Given the description of an element on the screen output the (x, y) to click on. 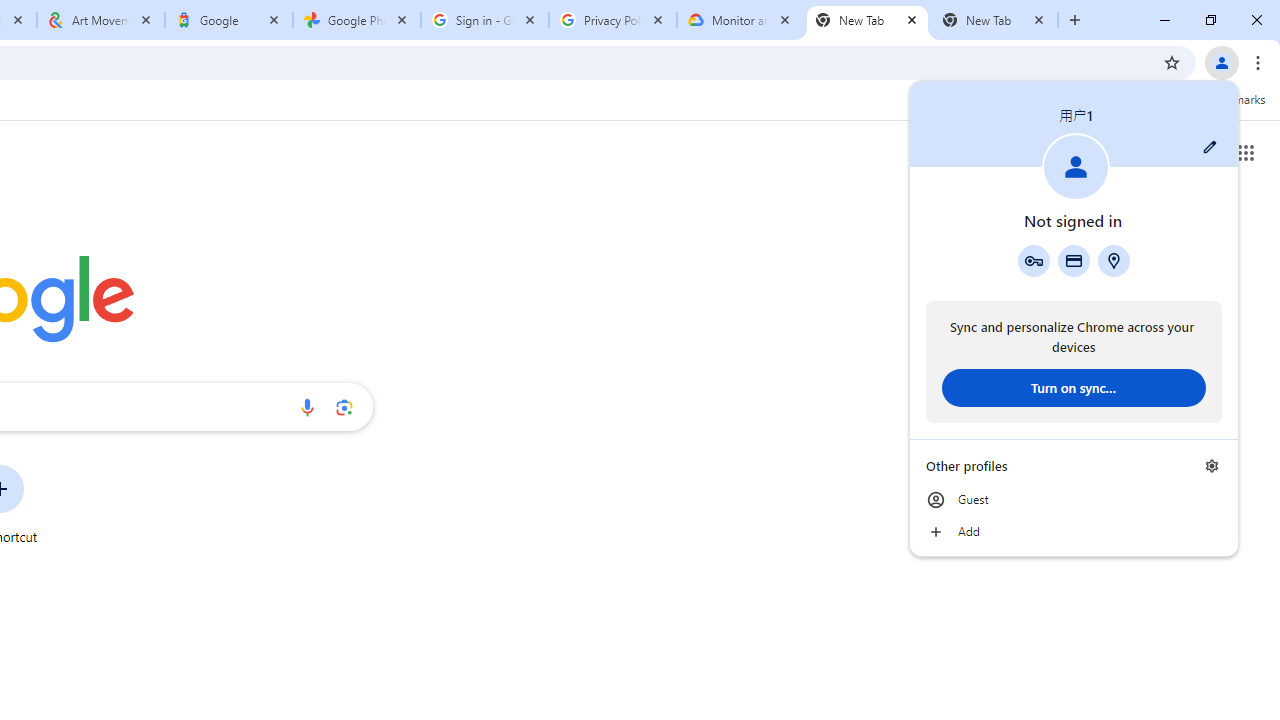
Customize profile (1210, 147)
Search by image (344, 407)
Payment methods (1074, 260)
New Tab (994, 20)
Google Password Manager (1033, 260)
Manage profiles (1211, 465)
Google (229, 20)
Add (1073, 531)
Addresses and more (1114, 260)
New Tab (866, 20)
